Given the description of an element on the screen output the (x, y) to click on. 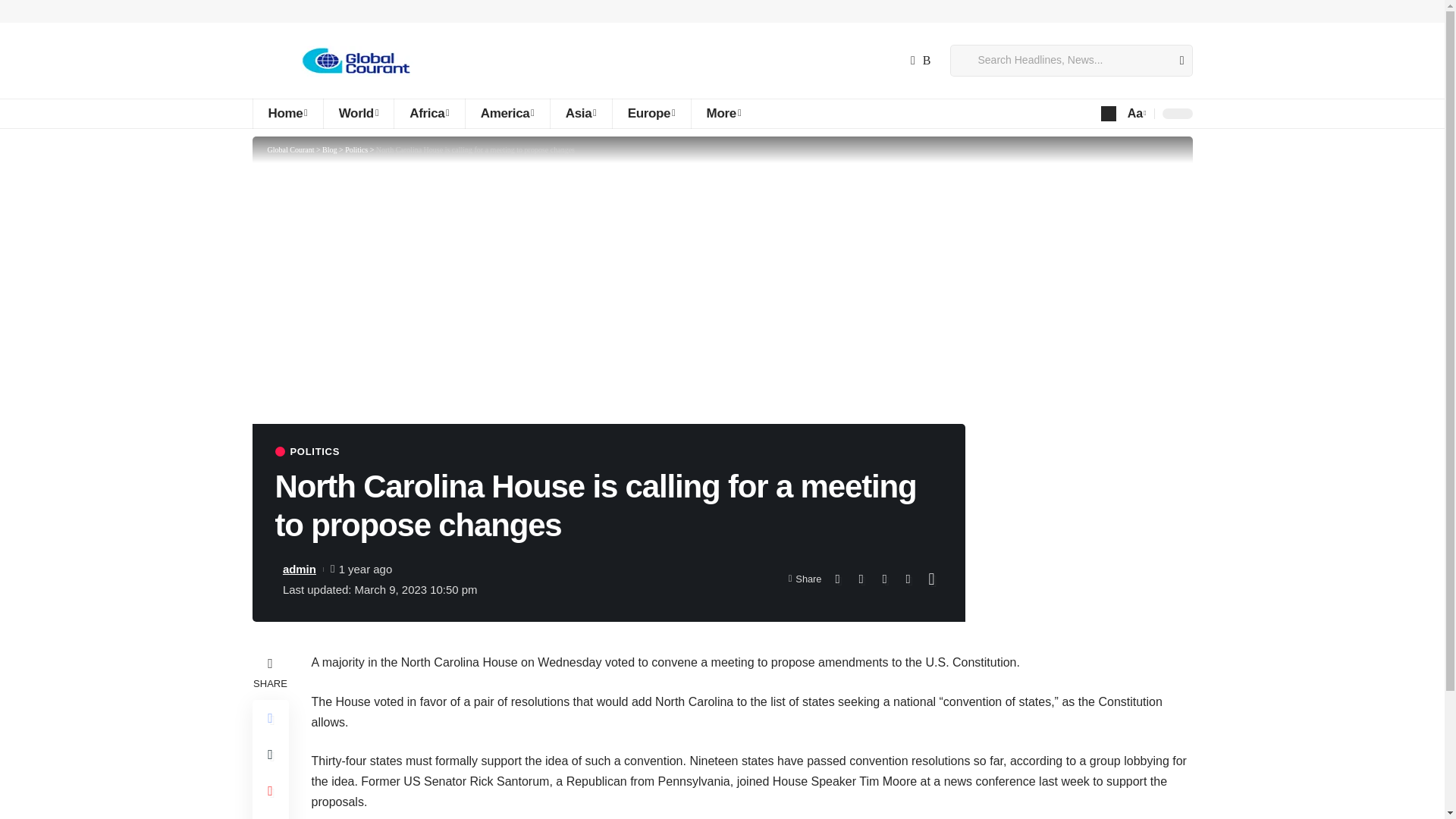
Go to Blog. (328, 149)
Asia (580, 113)
America (507, 113)
Europe (650, 113)
Global Courant (353, 60)
Go to Global Courant. (290, 149)
Home (286, 113)
Go to the Politics Category archives. (356, 149)
World (358, 113)
Search (1175, 60)
